Given the description of an element on the screen output the (x, y) to click on. 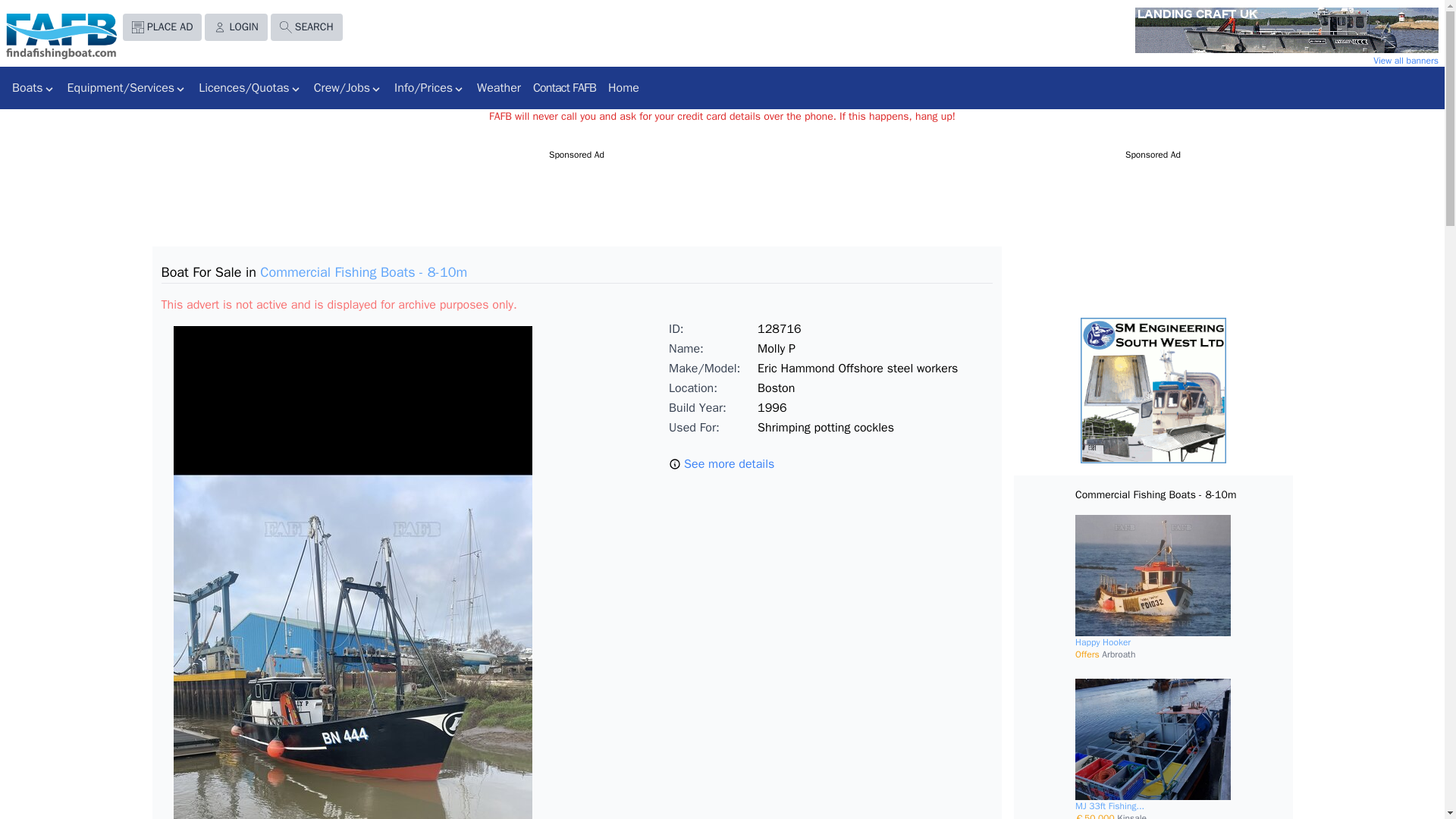
View all banners (1273, 60)
Click here to visit advertiser's website (1276, 29)
SEARCH (306, 26)
PLACE AD (162, 26)
LOGIN (235, 26)
Boats (33, 87)
Banner advertisement (1273, 29)
LOGIN (235, 29)
Banner advertisement (1152, 390)
PLACE AD (162, 29)
